Given the description of an element on the screen output the (x, y) to click on. 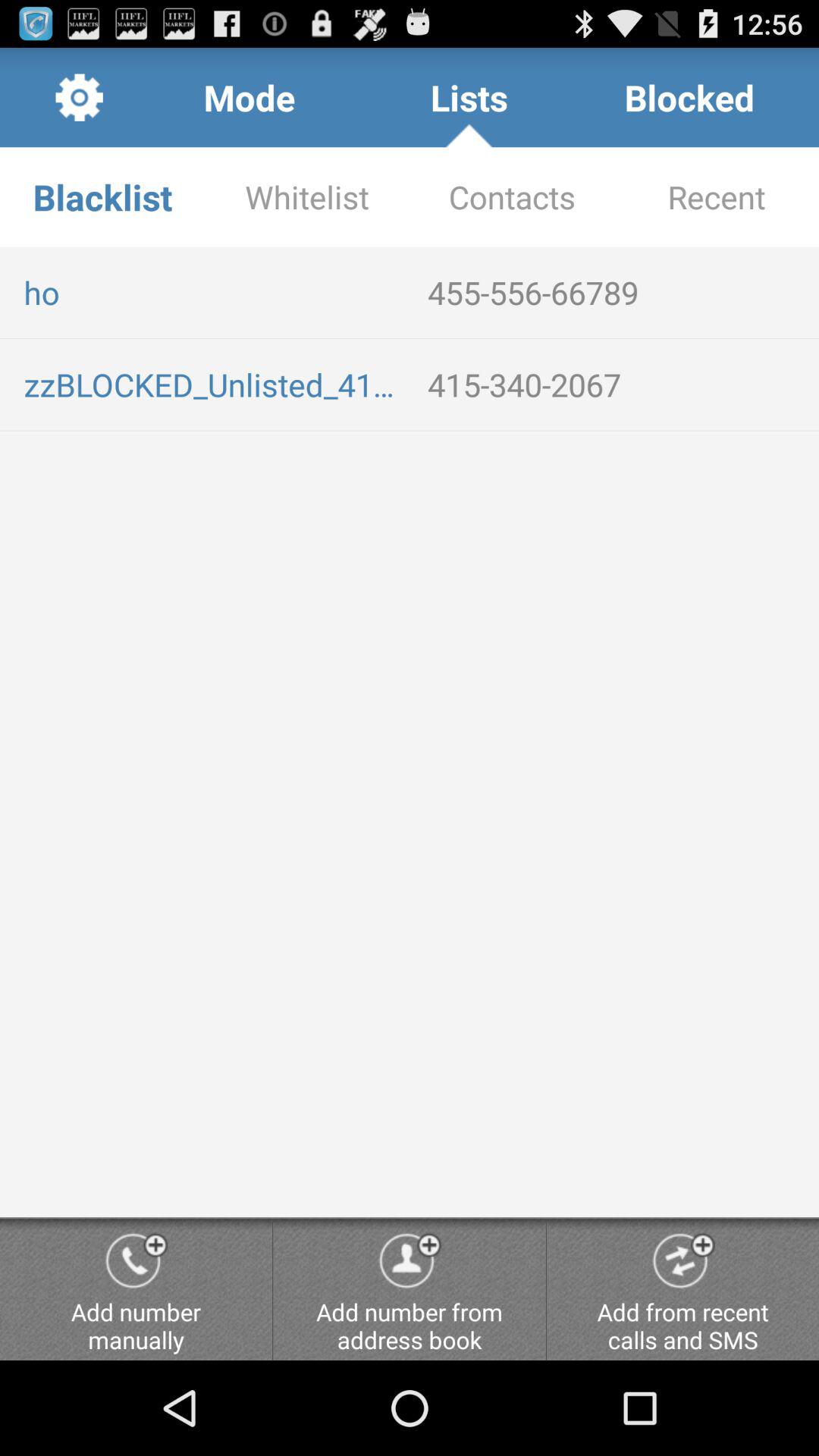
turn off the item below lists (511, 196)
